Given the description of an element on the screen output the (x, y) to click on. 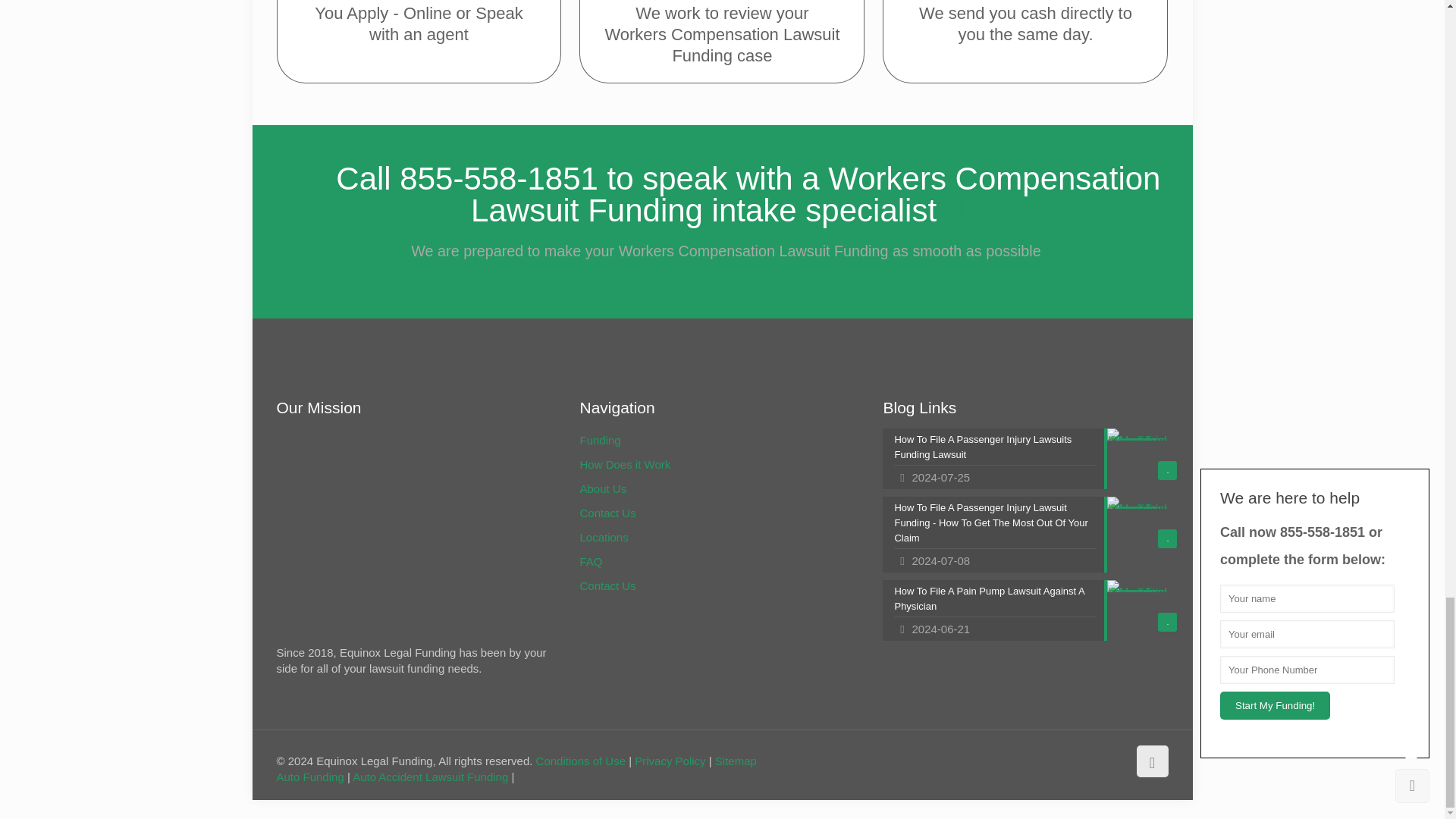
Advertisement (403, 534)
